Given the description of an element on the screen output the (x, y) to click on. 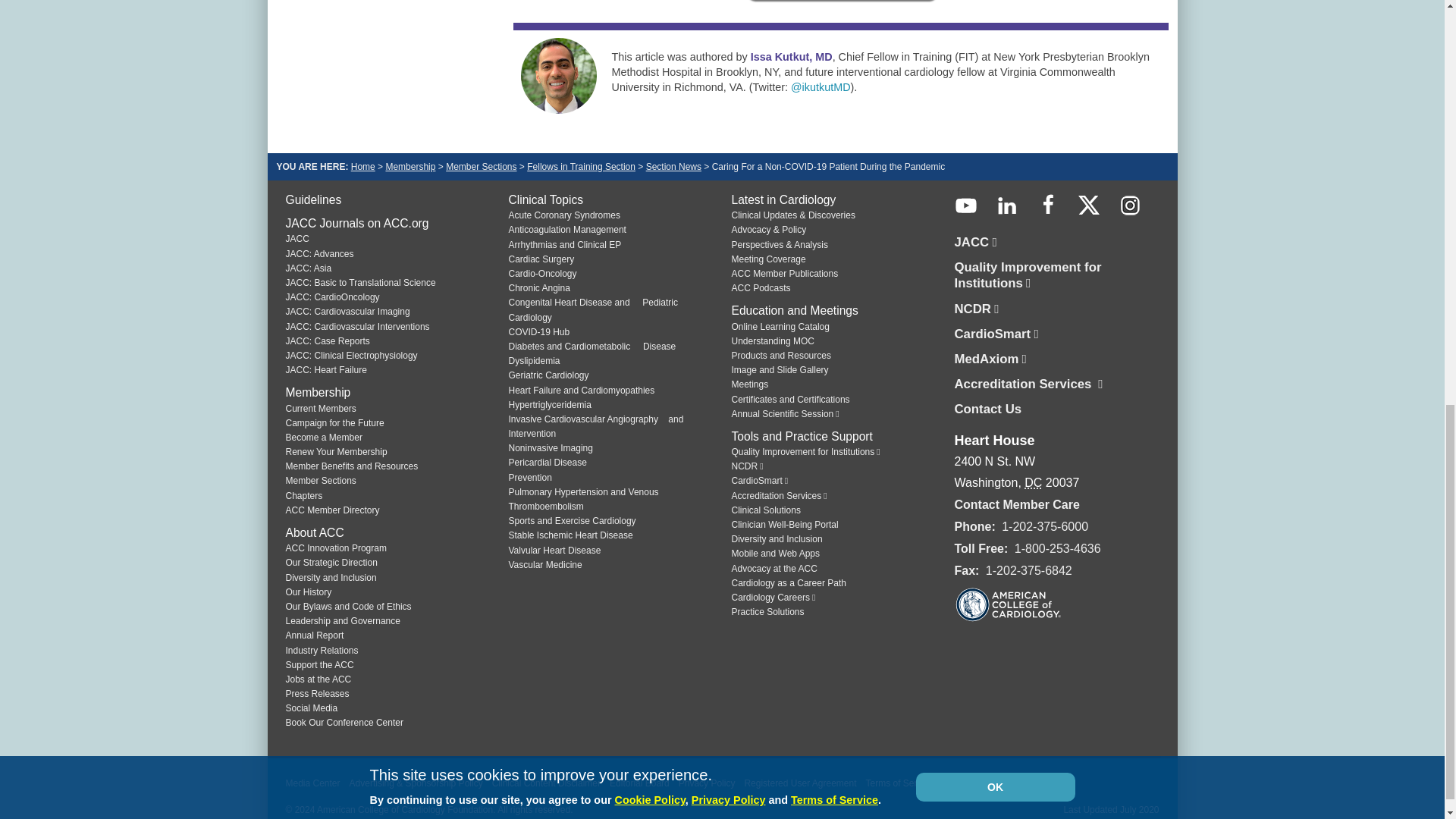
JACC: Cardiovascular Imaging (347, 311)
JACC: Advances (319, 253)
JACC: Cardiovascular Interventions (357, 326)
Guidelines (312, 199)
JACC Asia (308, 267)
